Given the description of an element on the screen output the (x, y) to click on. 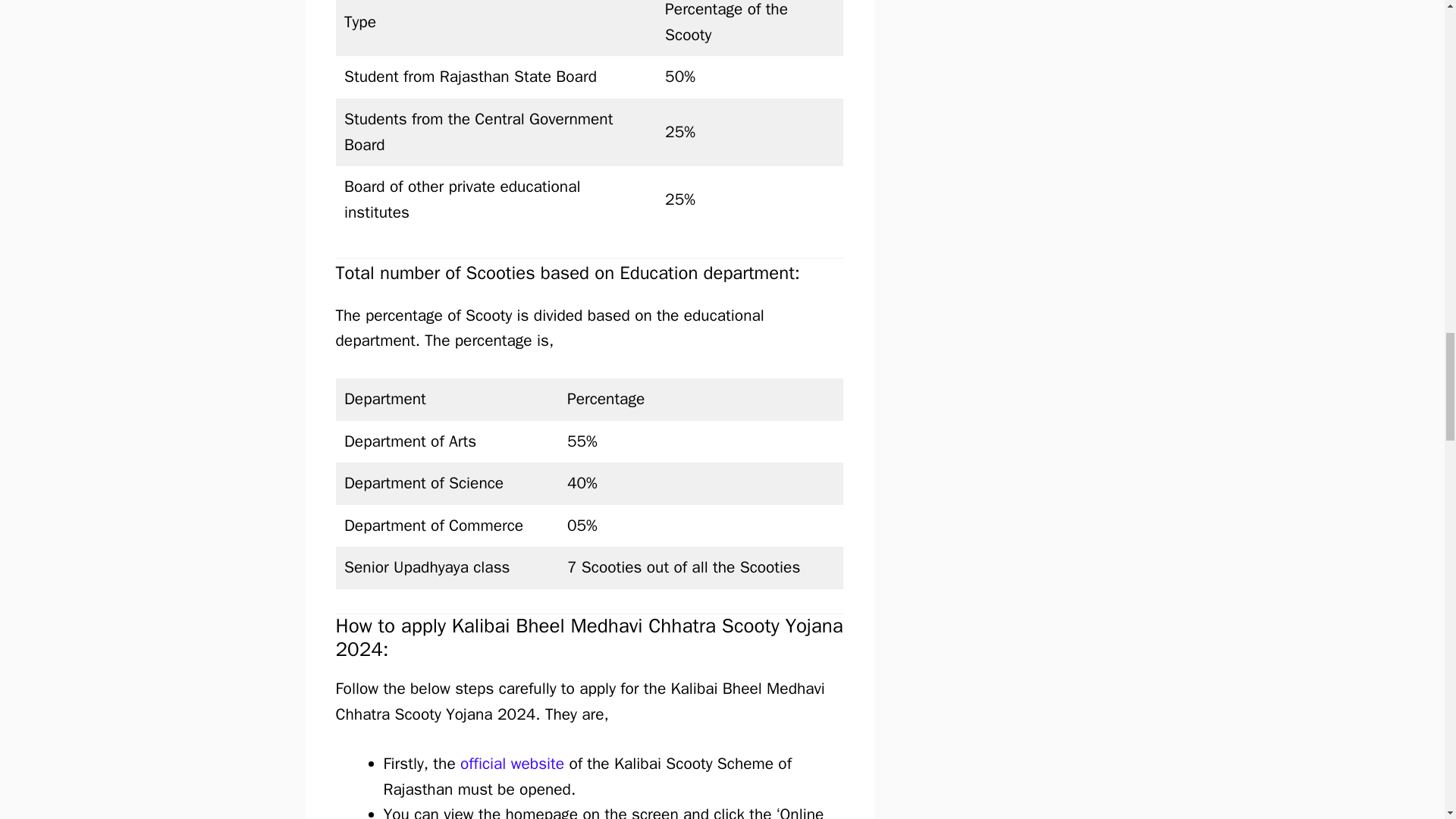
official website (512, 763)
